Given the description of an element on the screen output the (x, y) to click on. 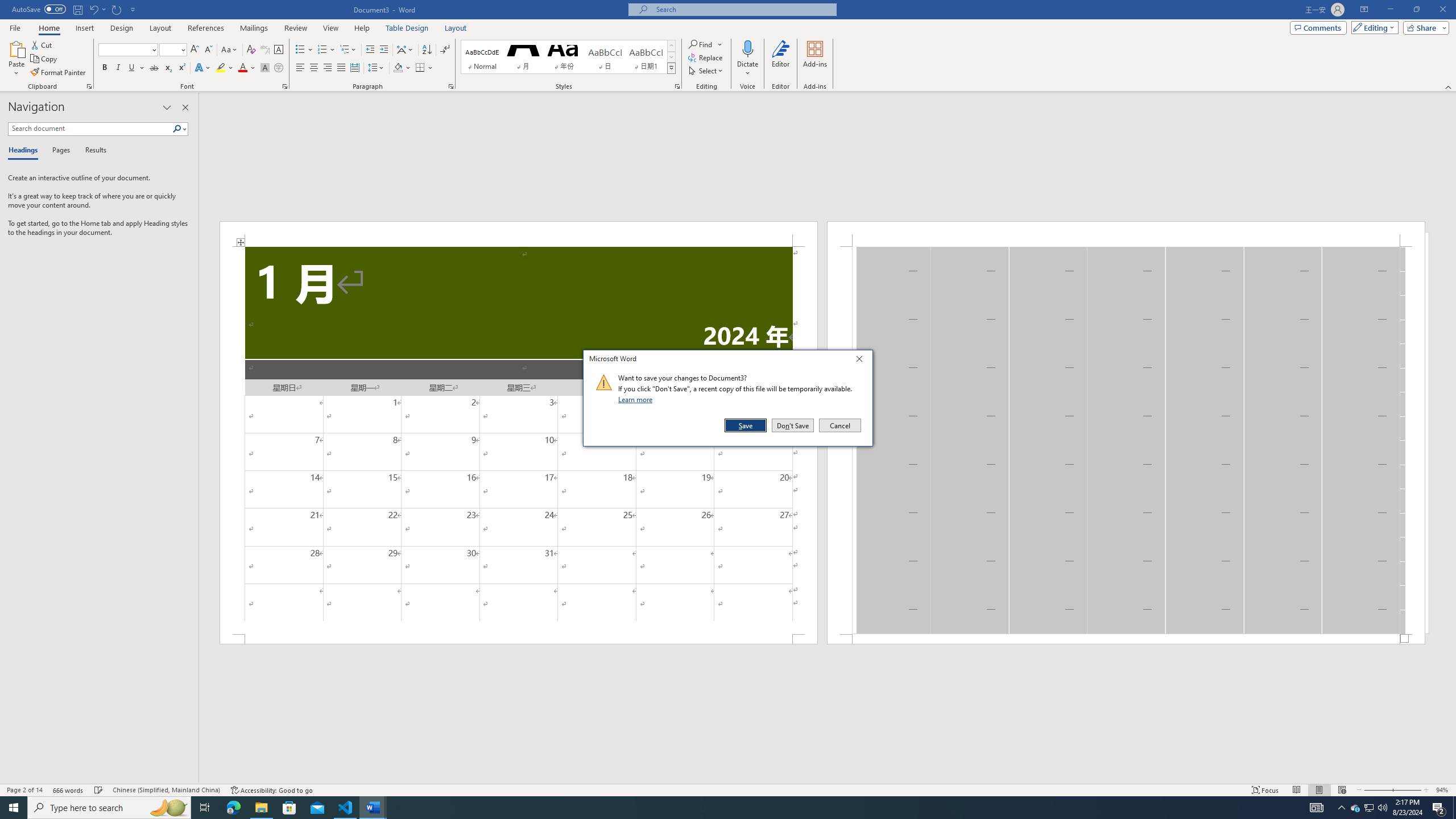
AutomationID: 4105 (1316, 807)
Font Color RGB(255, 0, 0) (241, 67)
Language Chinese (Simplified, Mainland China) (165, 790)
Search highlights icon opens search home window (167, 807)
Decrease Indent (370, 49)
Running applications (717, 807)
Footer -Section 1- (1126, 638)
Align Right (327, 67)
Font... (285, 85)
